Given the description of an element on the screen output the (x, y) to click on. 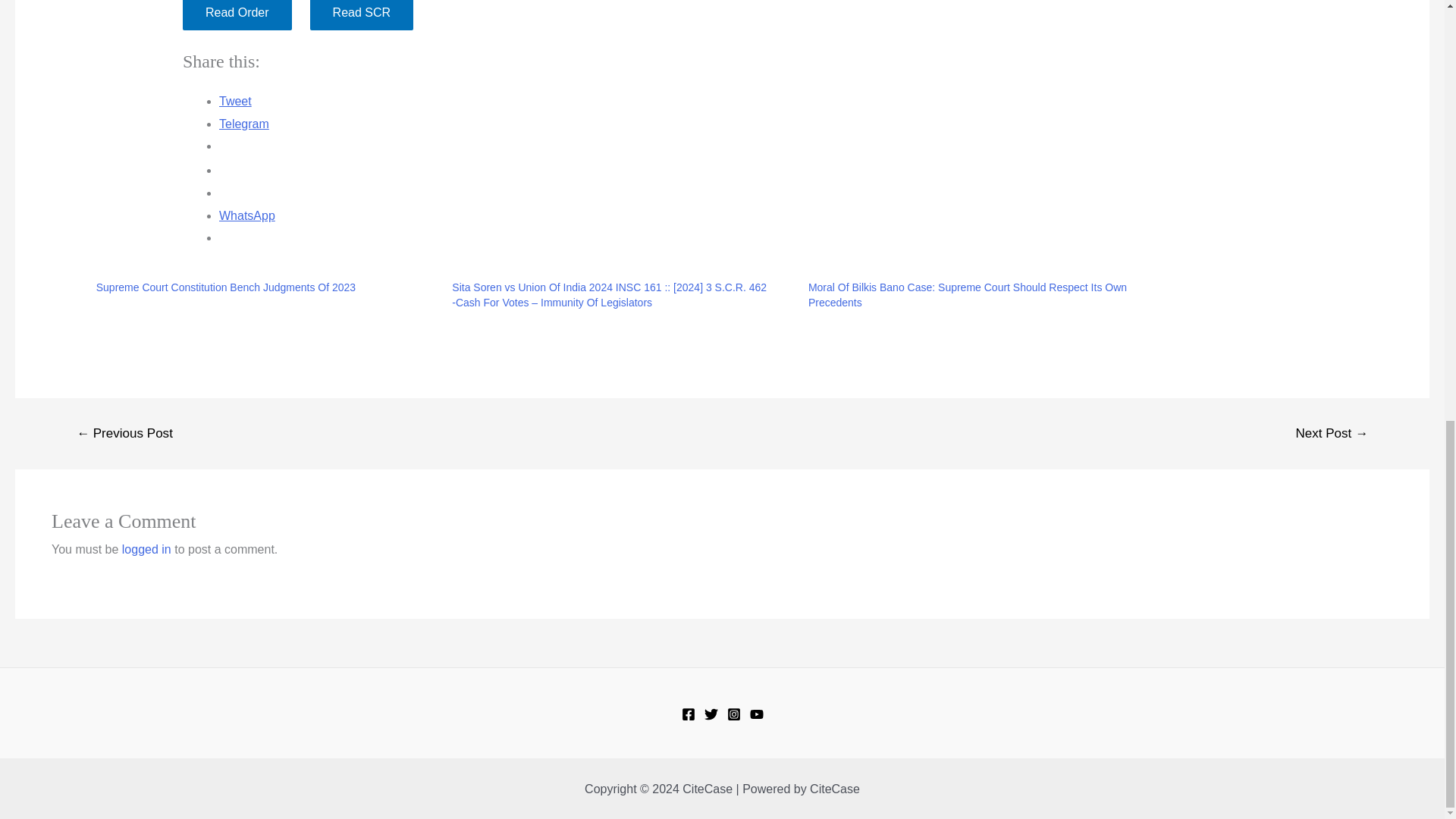
Click to share on WhatsApp (247, 215)
Supreme Court Constitution Bench Judgments Of 2023 (225, 287)
Click to share on Telegram (244, 123)
